Given the description of an element on the screen output the (x, y) to click on. 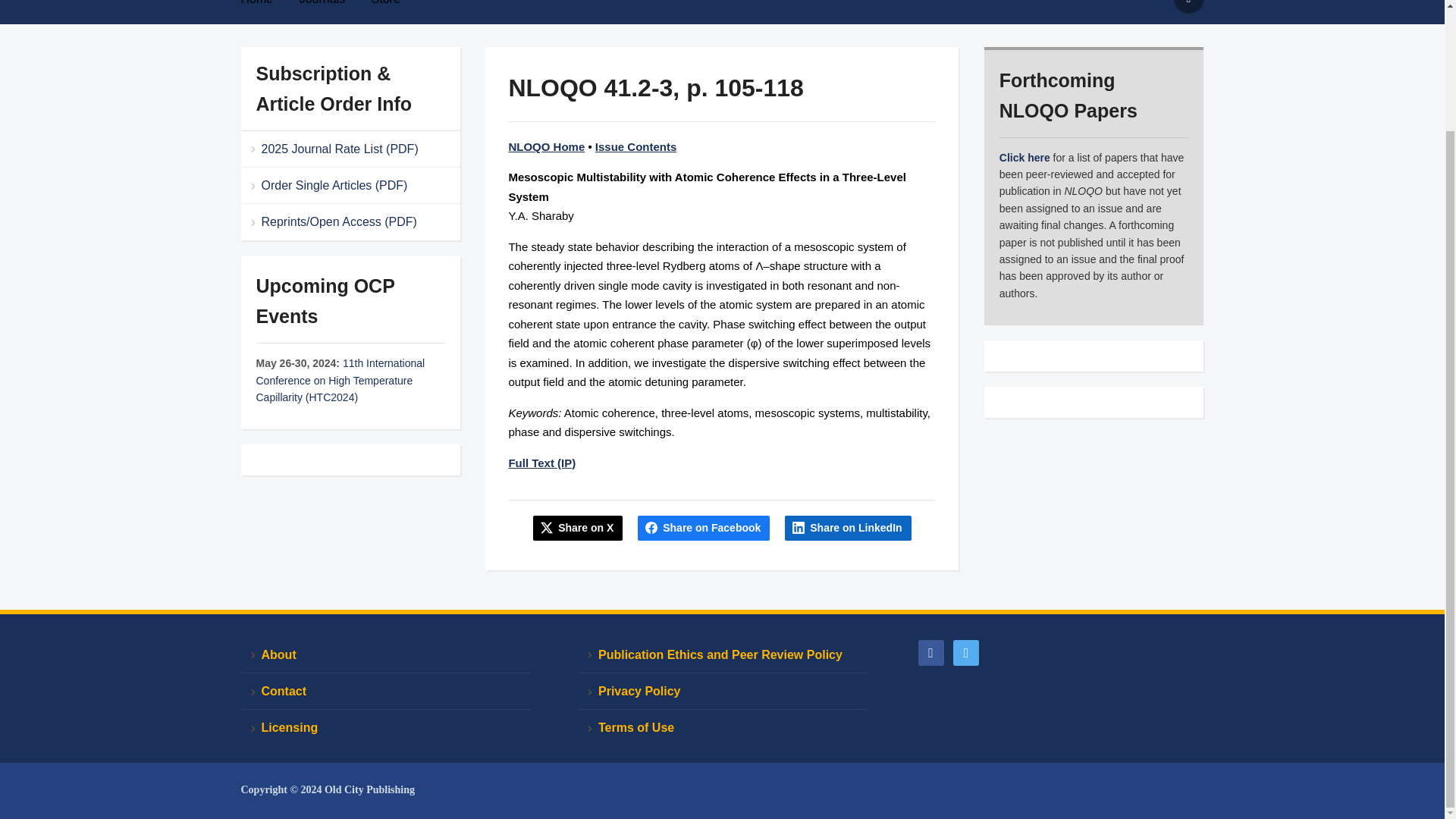
Privacy Policy (722, 691)
Contact (385, 691)
Share on Facebook (703, 527)
Issue Contents (636, 146)
twitter (965, 651)
Click here (1023, 157)
Terms of Use (722, 727)
Search (1188, 6)
Home (269, 8)
Publication Ethics and Peer Review Policy (722, 655)
